Given the description of an element on the screen output the (x, y) to click on. 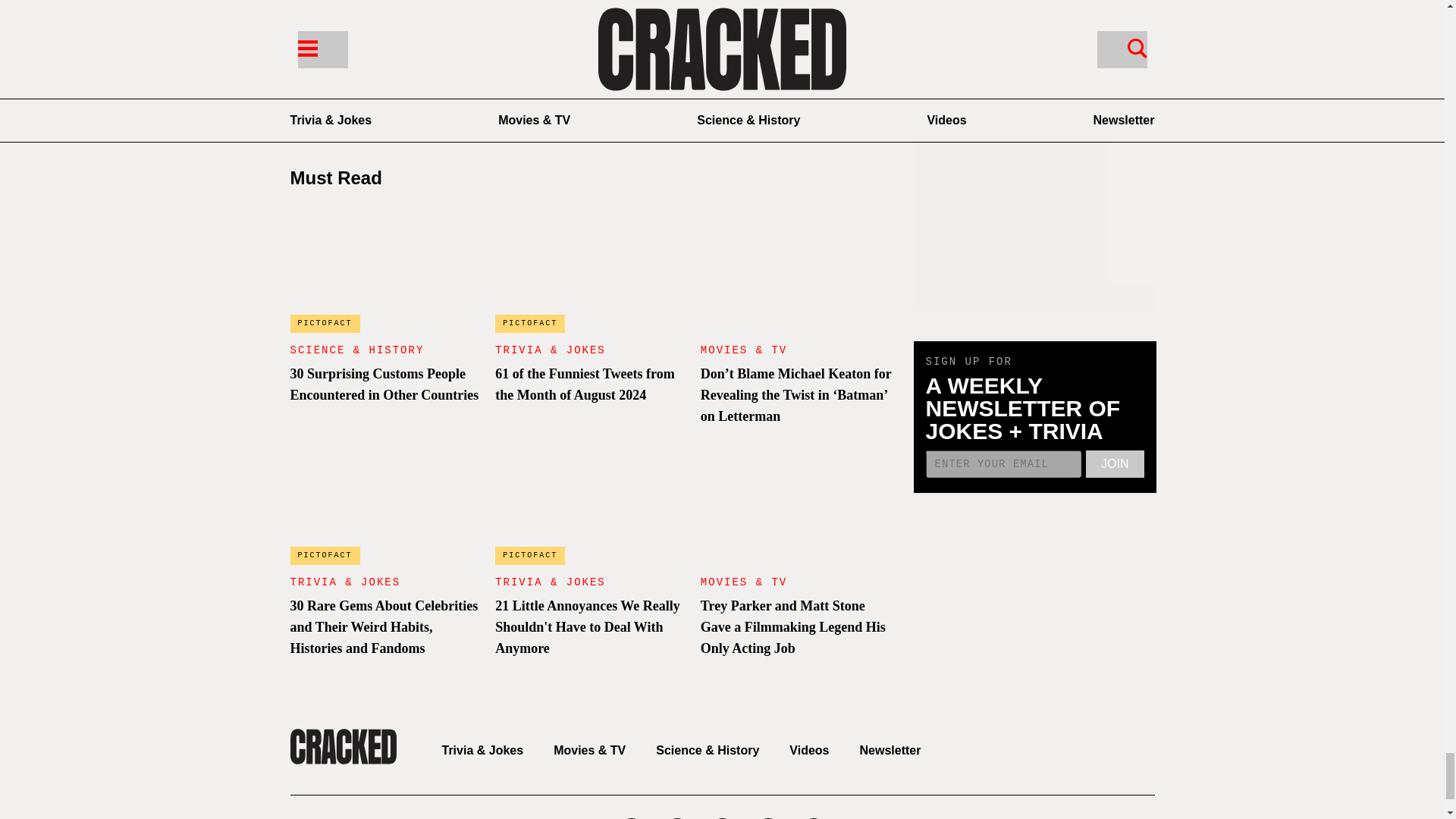
Facebook (346, 64)
Pinterest (592, 64)
Twitter (470, 64)
Reddit (840, 64)
Flipboard (716, 64)
